Given the description of an element on the screen output the (x, y) to click on. 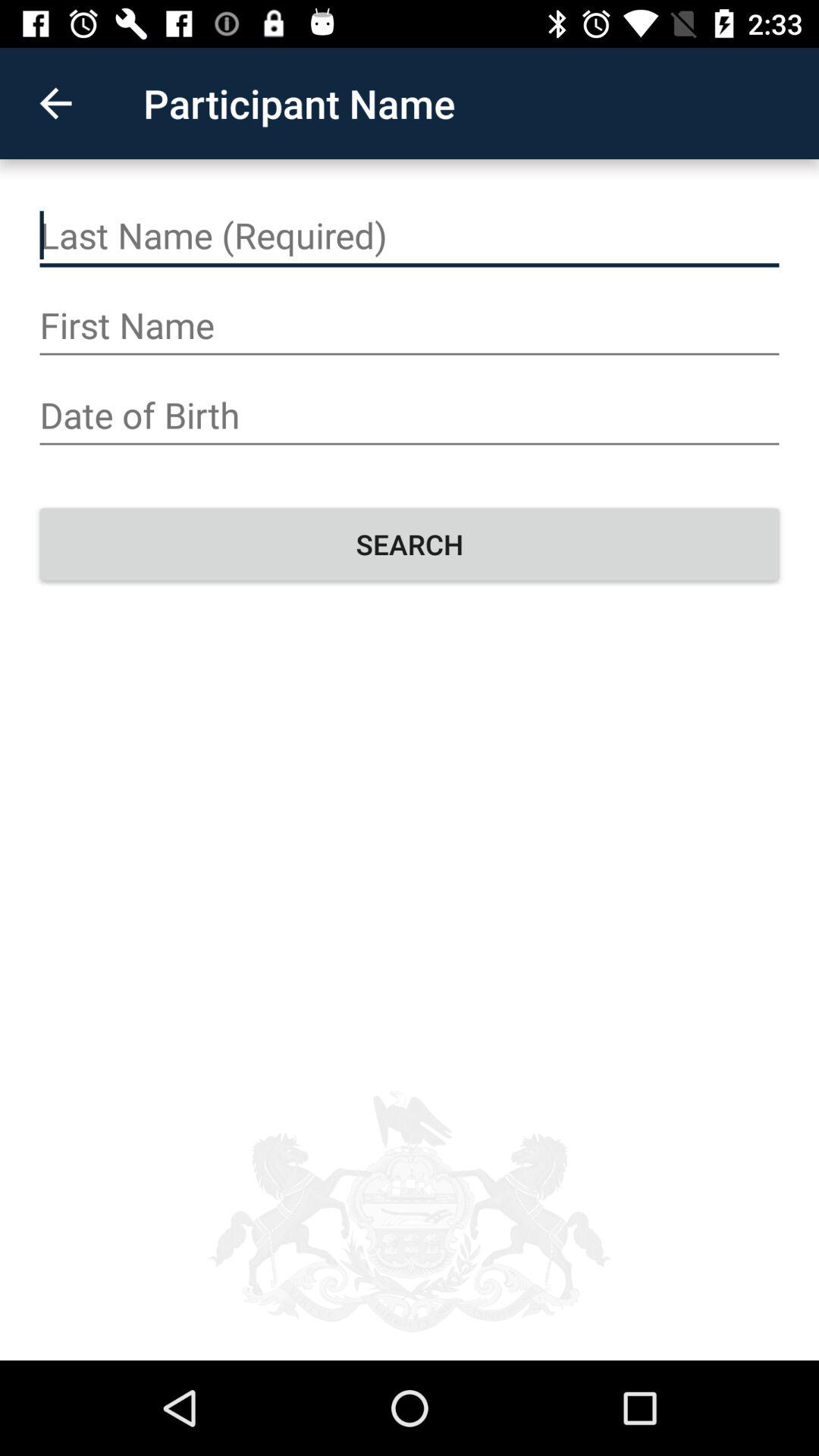
add your date of birth (409, 415)
